Given the description of an element on the screen output the (x, y) to click on. 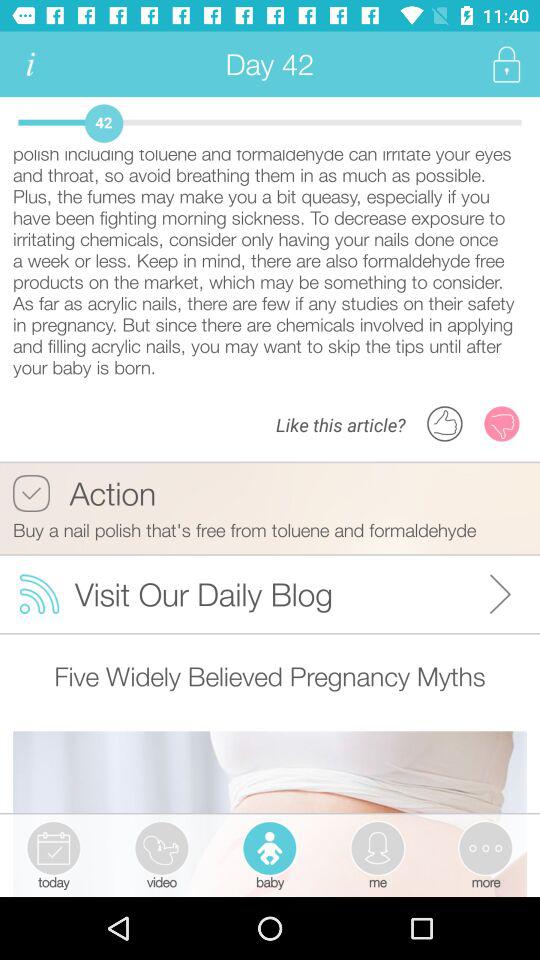
like the article (445, 423)
